Given the description of an element on the screen output the (x, y) to click on. 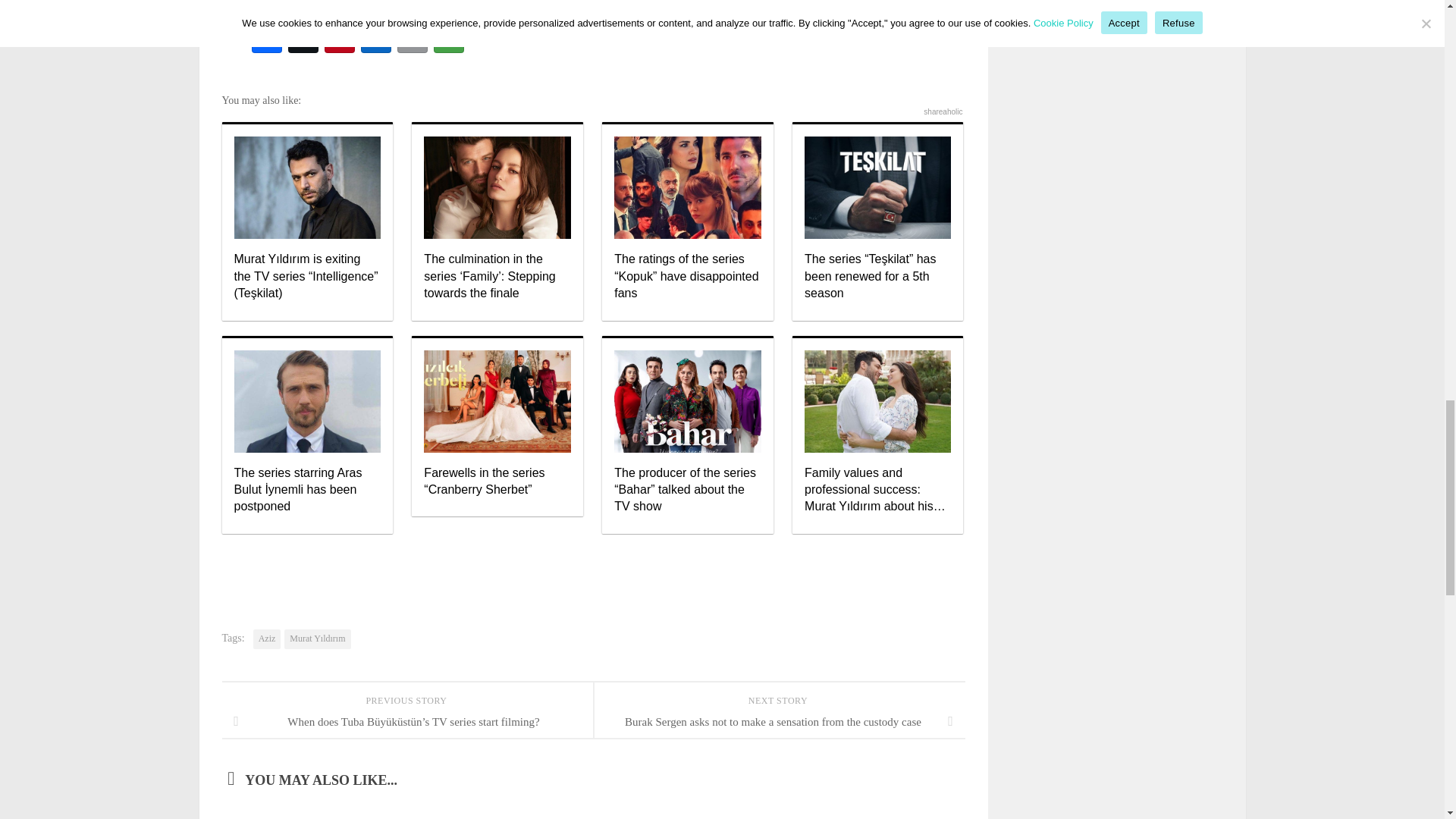
Facebook (266, 37)
Email This (412, 37)
shareaholic (942, 111)
Aziz (267, 639)
LinkedIn (376, 37)
Pinterest (339, 37)
More Options (448, 37)
